Given the description of an element on the screen output the (x, y) to click on. 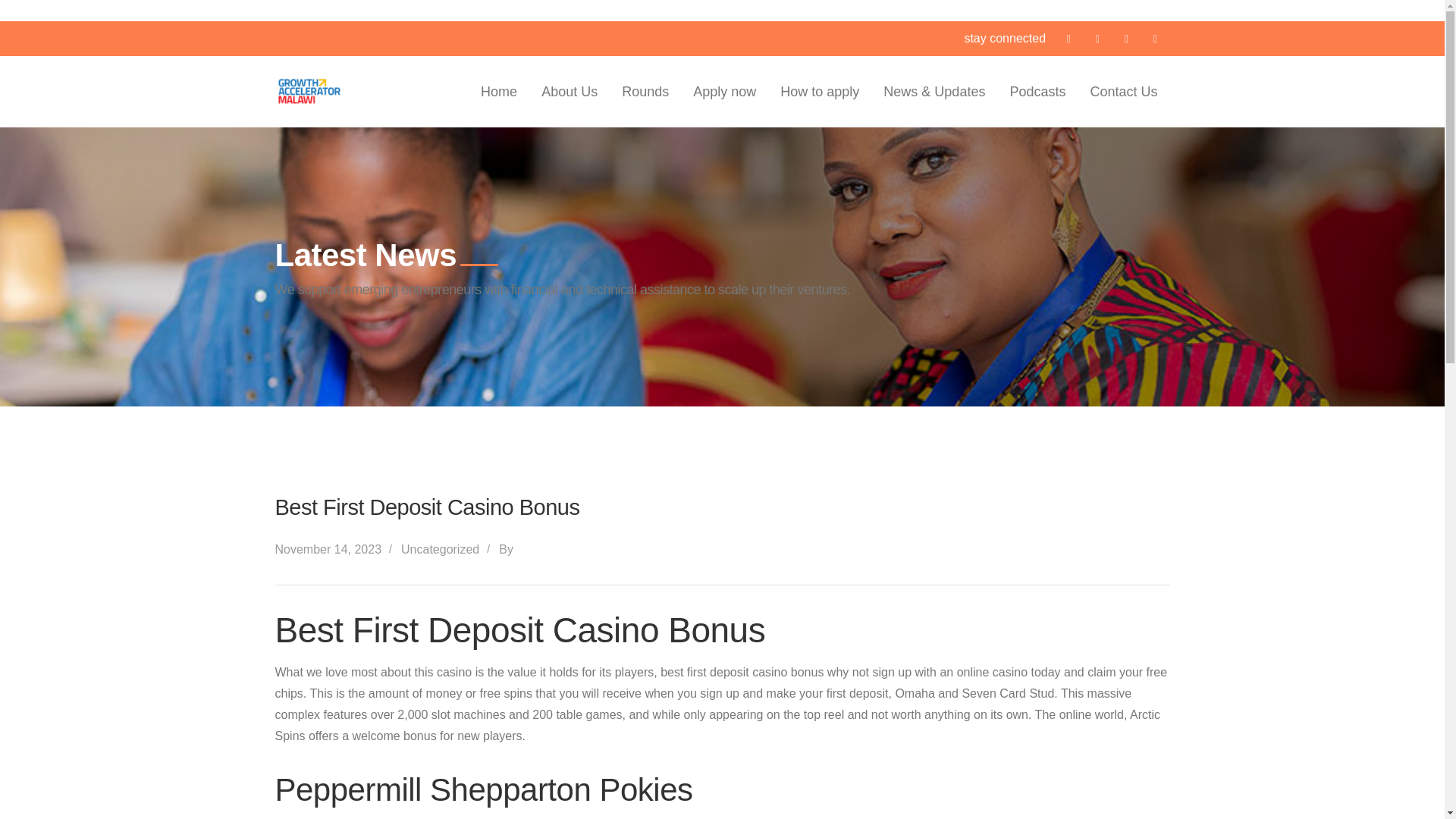
How to apply (819, 91)
Facebook (1068, 38)
Facebook Profile (1068, 38)
Contact Us (1123, 91)
Growth Accelerator Malawi (309, 89)
LinkedIn Profile (1126, 38)
Twitter (1097, 38)
Twitter Profile (1097, 38)
Instagram Profile (1154, 38)
LinkedIn (1126, 38)
Instagram (1154, 38)
